Given the description of an element on the screen output the (x, y) to click on. 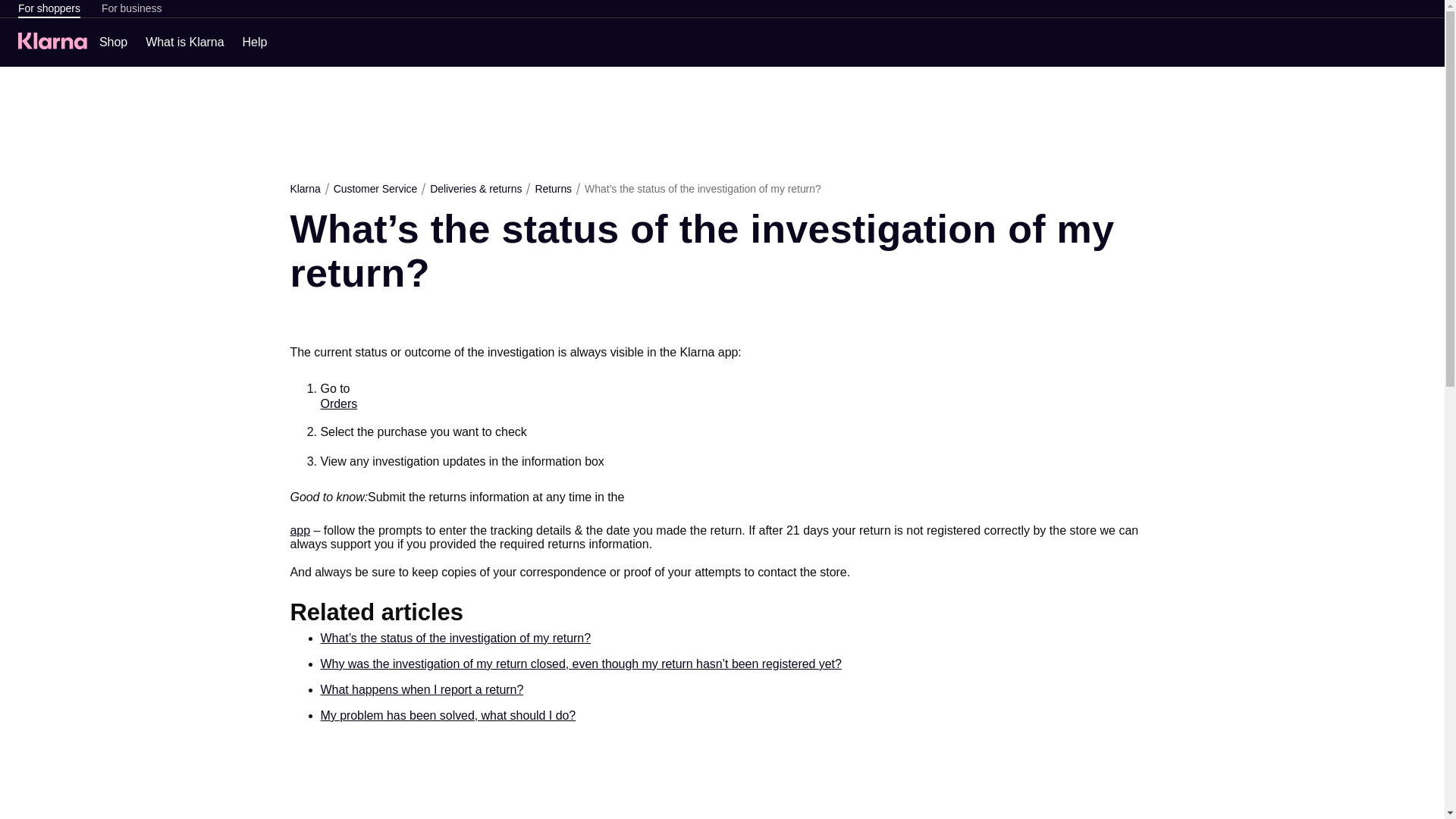
Customer Service (375, 188)
For shoppers (48, 8)
Help (254, 42)
app (299, 530)
My problem has been solved, what should I do? (447, 715)
For business (131, 8)
Klarna (304, 188)
What happens when I report a return? (421, 689)
Orders (338, 404)
Returns (553, 188)
What is Klarna (184, 42)
Shop (113, 42)
